Given the description of an element on the screen output the (x, y) to click on. 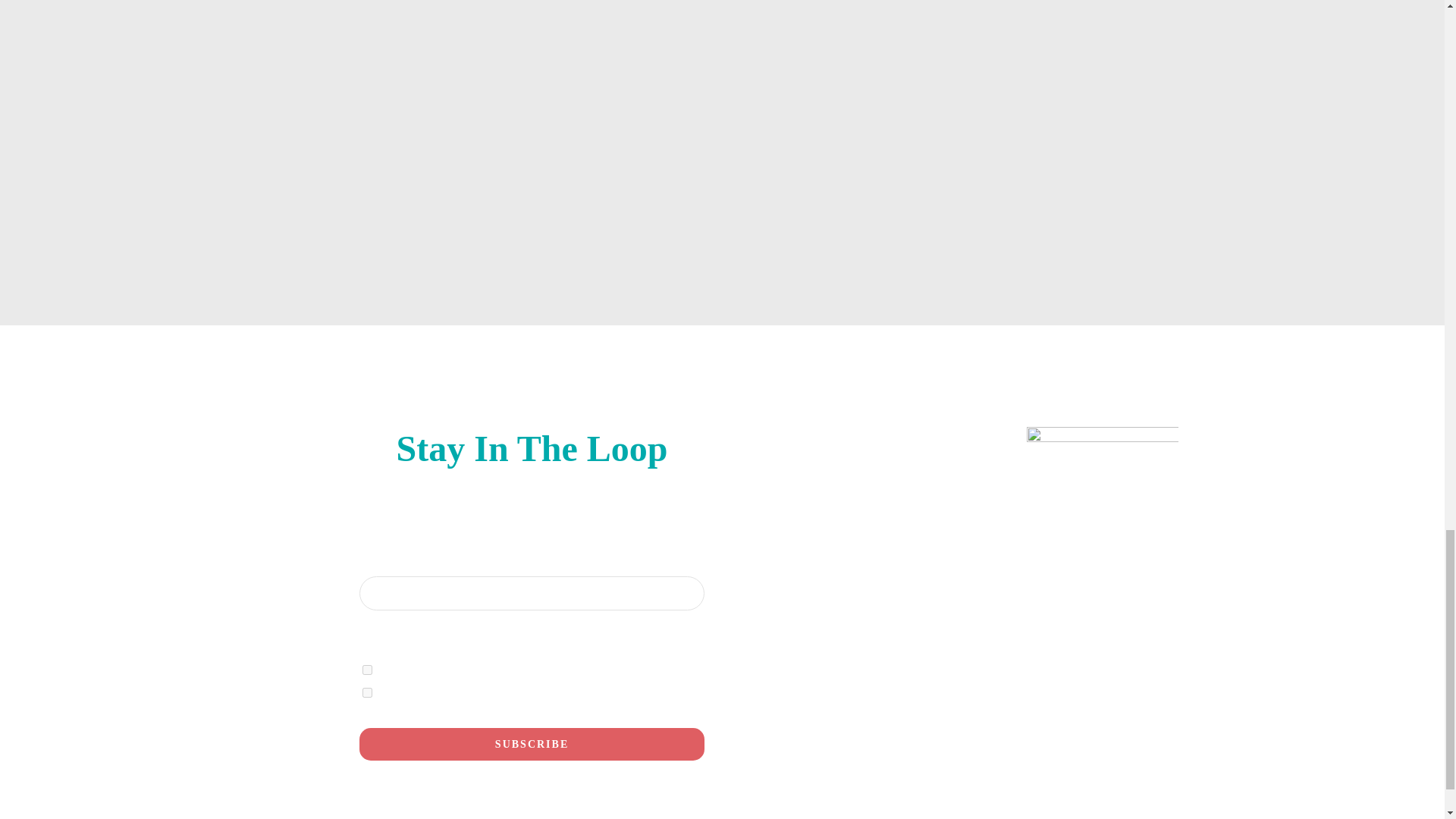
Subscribe (531, 744)
1 (367, 669)
2 (367, 692)
